Given the description of an element on the screen output the (x, y) to click on. 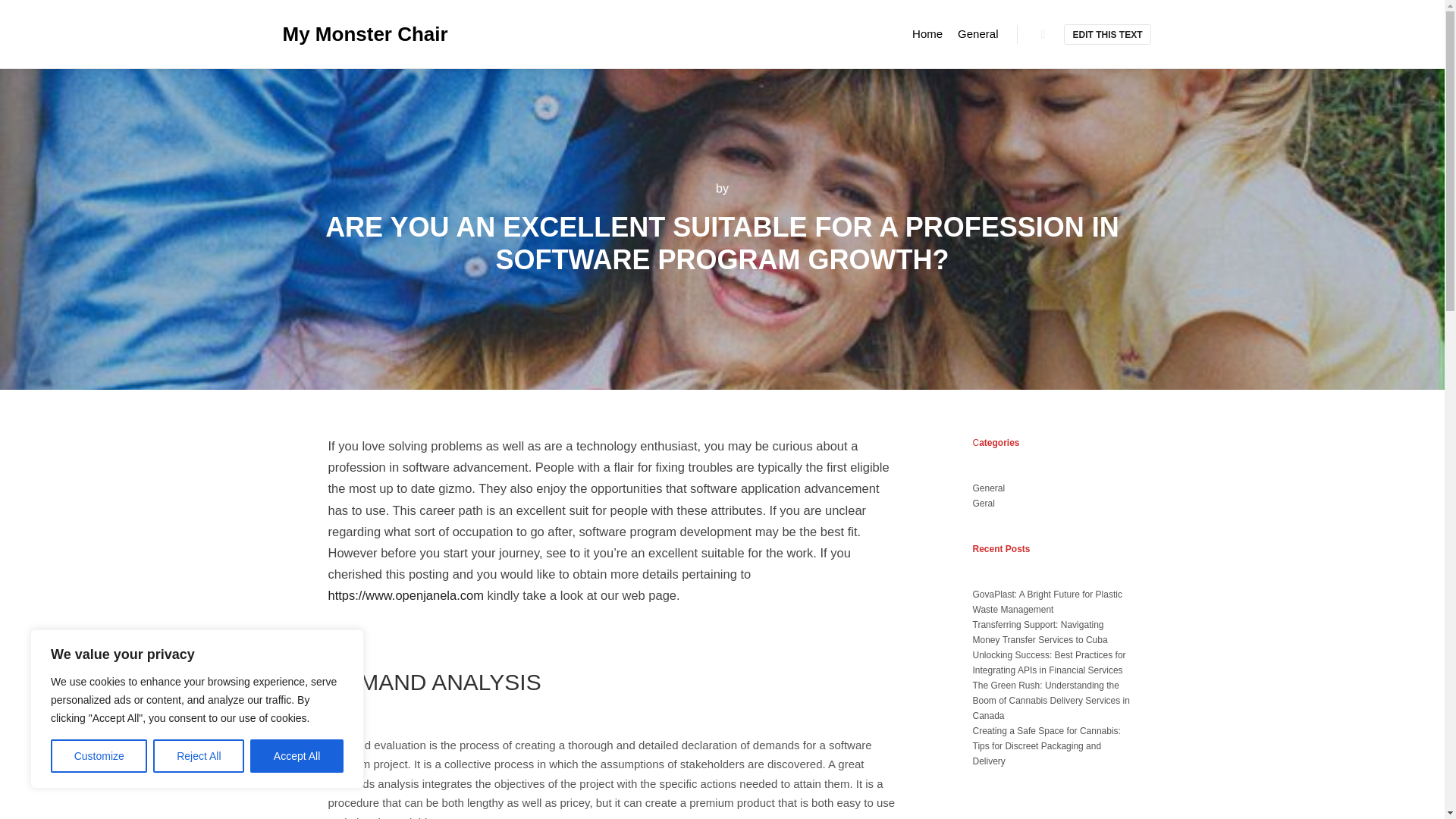
My Monster Chair (357, 33)
General (988, 488)
My Monster Chair (357, 33)
Search (1043, 34)
Geral (983, 502)
Accept All (296, 756)
Reject All (198, 756)
Search (1043, 34)
